Given the description of an element on the screen output the (x, y) to click on. 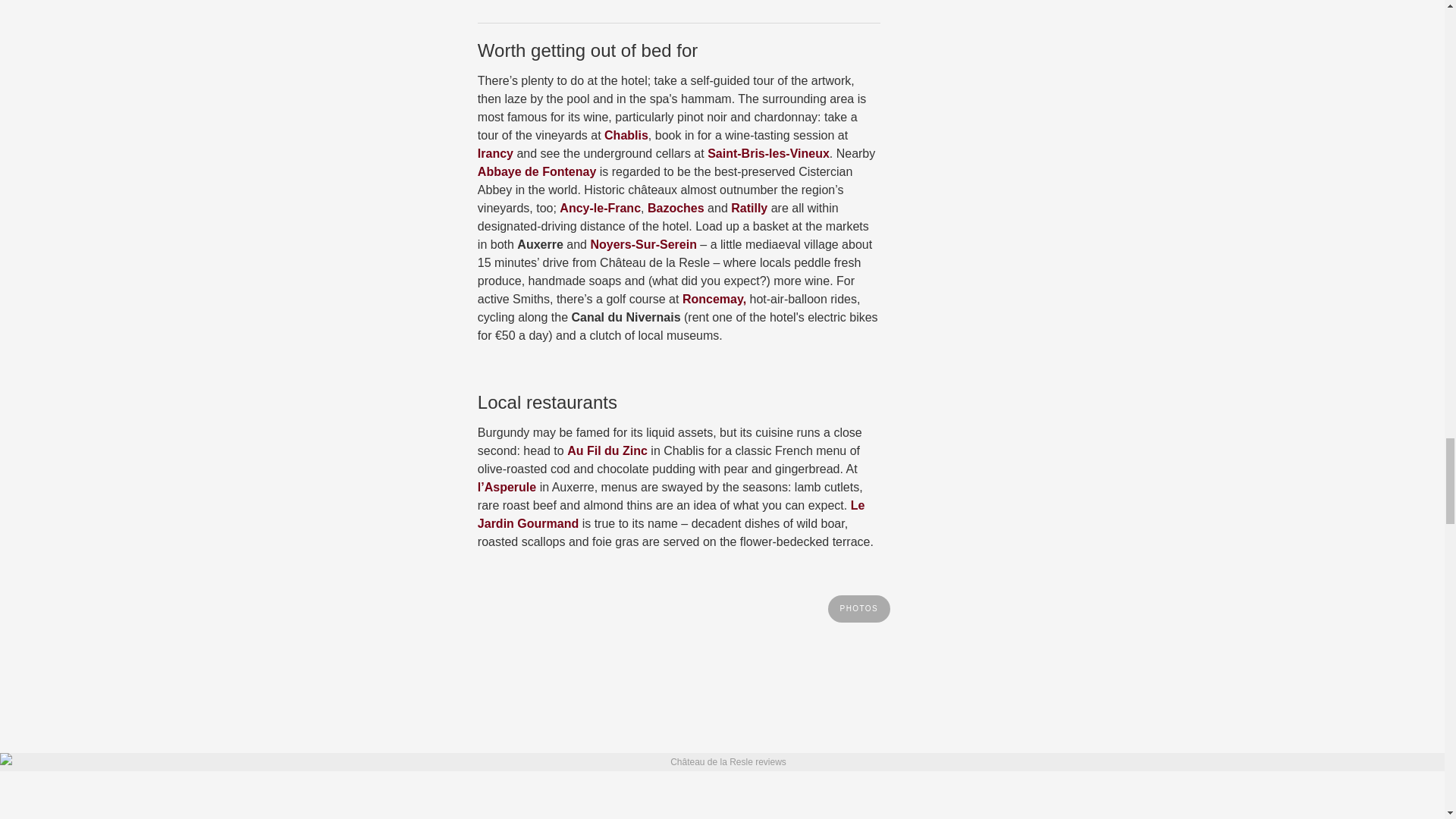
Chablis (625, 134)
Irancy (495, 153)
Saint-Bris-les-Vineux (768, 153)
Abbaye de Fontenay (536, 171)
Bazoches (675, 207)
Ancy-le-Franc (599, 207)
Roncemay, (713, 298)
Ratilly (748, 207)
Noyers-Sur-Serein (643, 244)
